Given the description of an element on the screen output the (x, y) to click on. 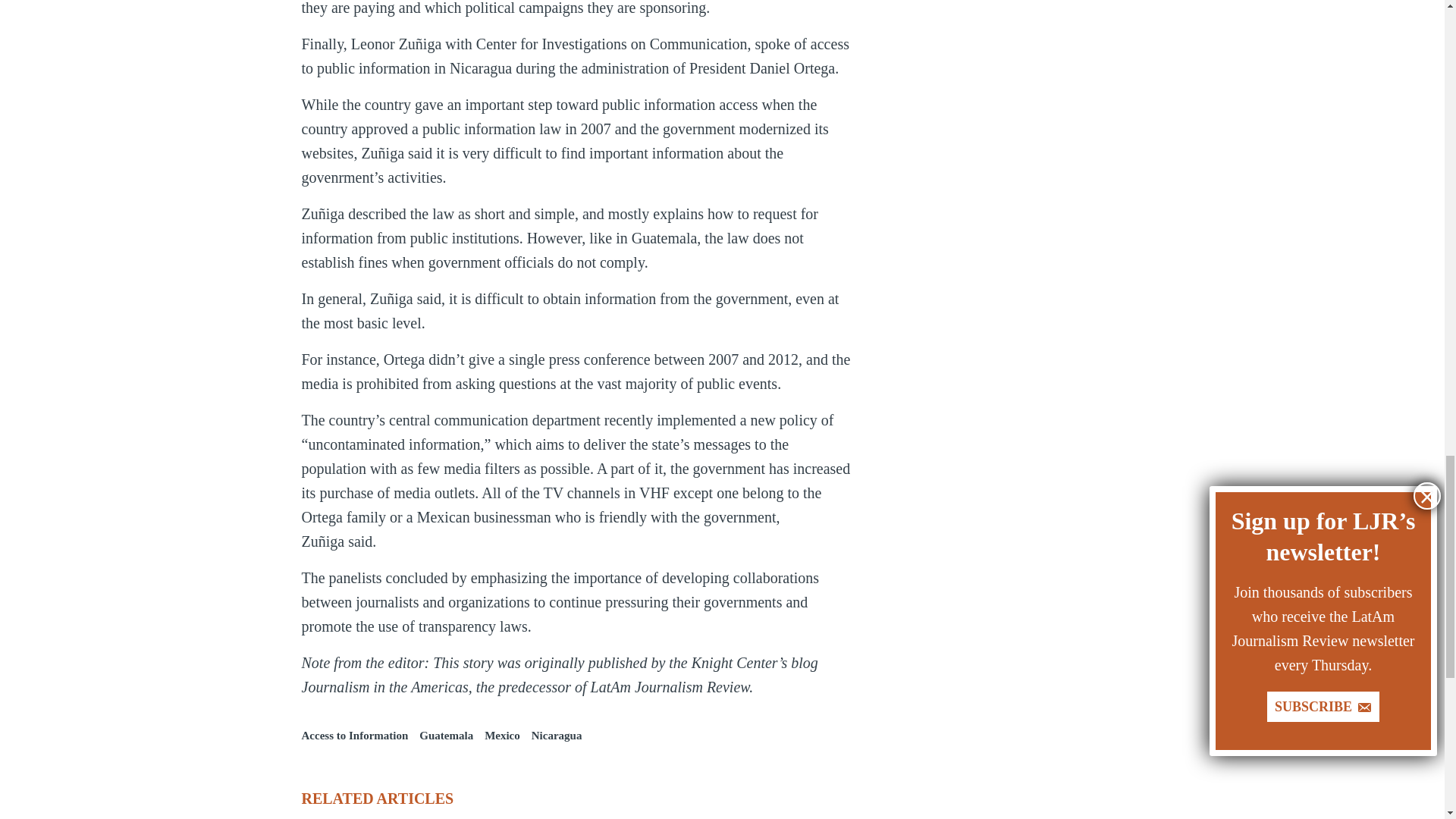
Mexico (501, 735)
Access to Information (355, 735)
Nicaragua (556, 735)
Guatemala (446, 735)
